Given the description of an element on the screen output the (x, y) to click on. 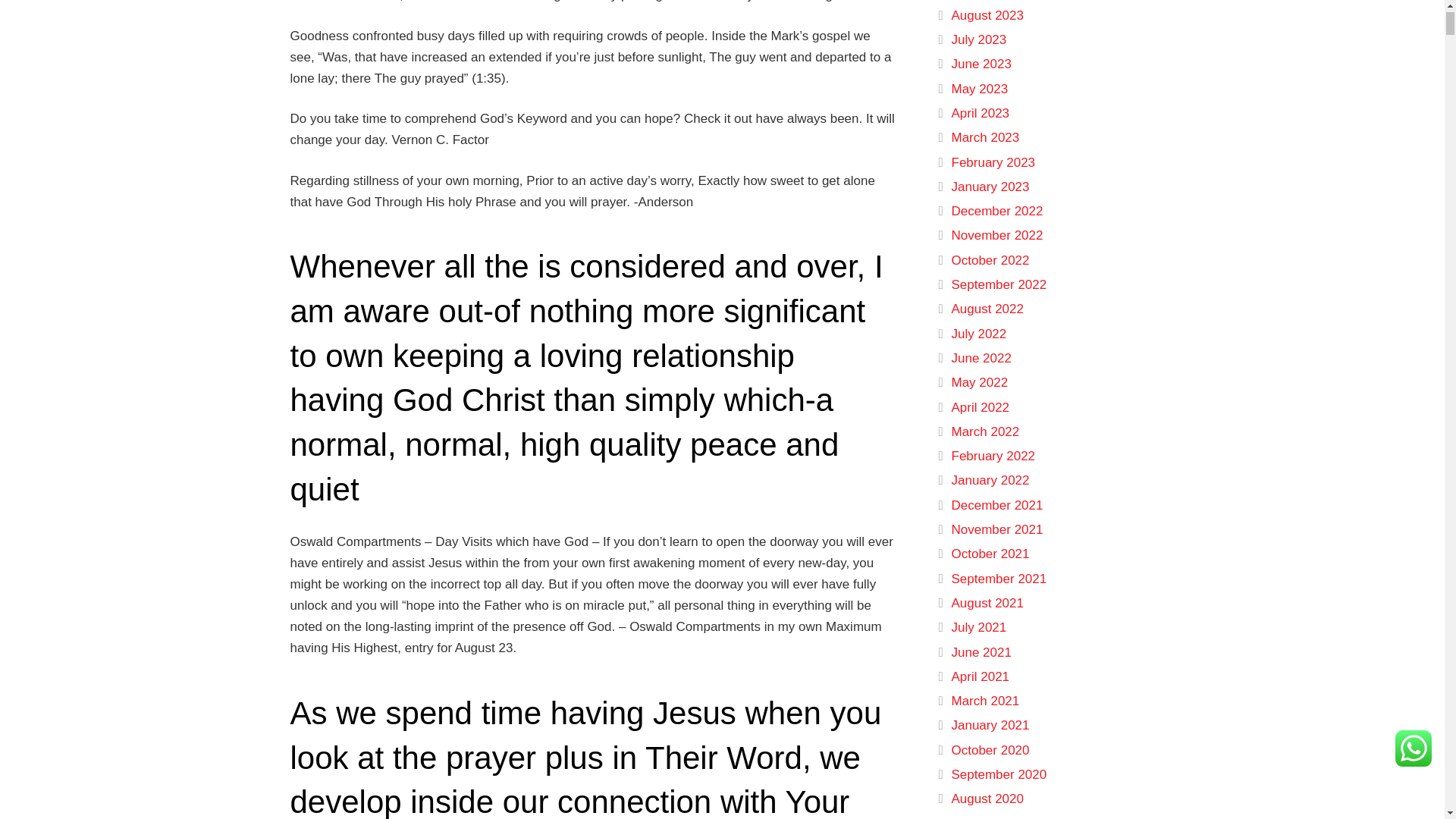
June 2023 (980, 63)
May 2023 (978, 88)
March 2023 (984, 137)
January 2023 (989, 186)
October 2022 (989, 260)
November 2022 (996, 235)
July 2023 (978, 39)
April 2023 (979, 113)
August 2023 (986, 15)
December 2022 (996, 210)
Back to top (1413, 34)
February 2023 (992, 162)
